Given the description of an element on the screen output the (x, y) to click on. 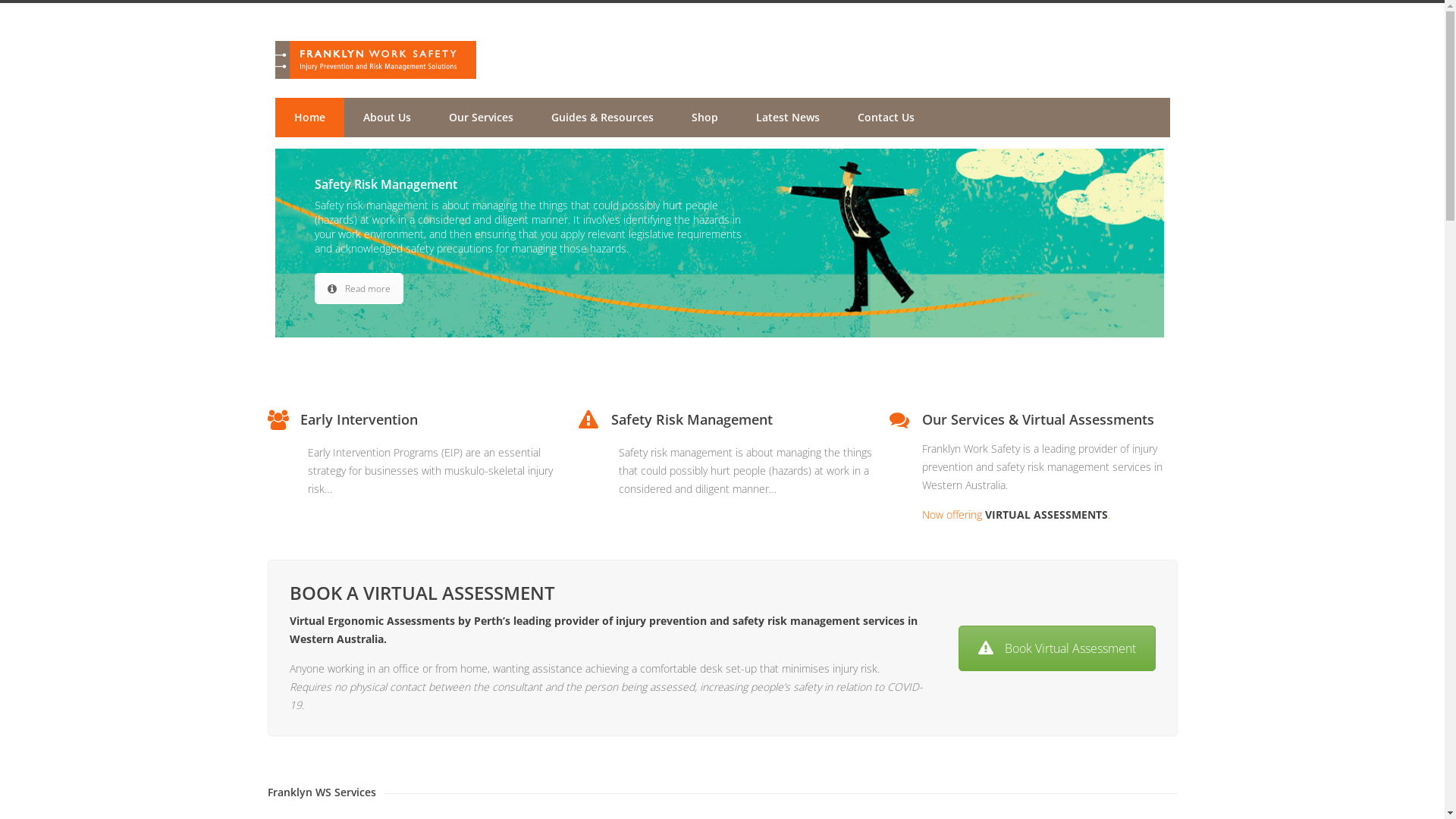
Book Virtual Assessment Element type: text (1056, 647)
Contact Us Element type: text (885, 117)
VIRTUAL ASSESSMENTS. Element type: text (1046, 514)
Home Element type: text (308, 117)
Shop Element type: text (703, 117)
Our Services Element type: text (480, 117)
Guides & Resources Element type: text (602, 117)
About Us Element type: text (386, 117)
Read more Element type: text (357, 288)
Latest News Element type: text (787, 117)
